Given the description of an element on the screen output the (x, y) to click on. 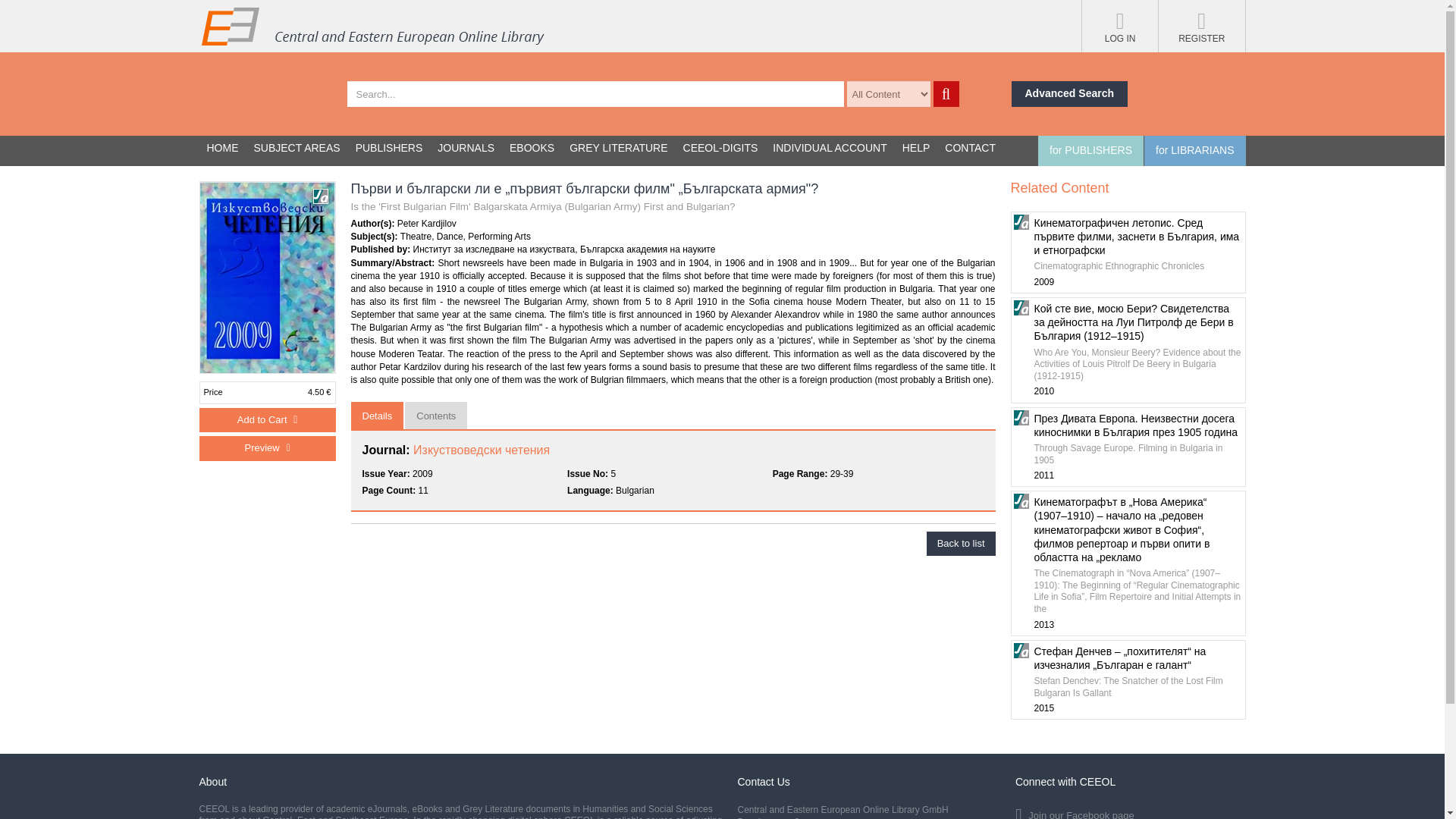
Advanced Search (1069, 94)
Journal Article (1020, 222)
Journal Article (1020, 650)
Add to Cart (266, 420)
REGISTER (1201, 26)
LOG IN (1119, 26)
Article (320, 196)
for PUBLISHERS (1090, 150)
for LIBRARIANS (1194, 150)
Central and Eastern European Online Library Home Page (372, 25)
Preview (287, 448)
Journal Article (1020, 500)
GREY LITERATURE (618, 148)
Contents (435, 415)
